Given the description of an element on the screen output the (x, y) to click on. 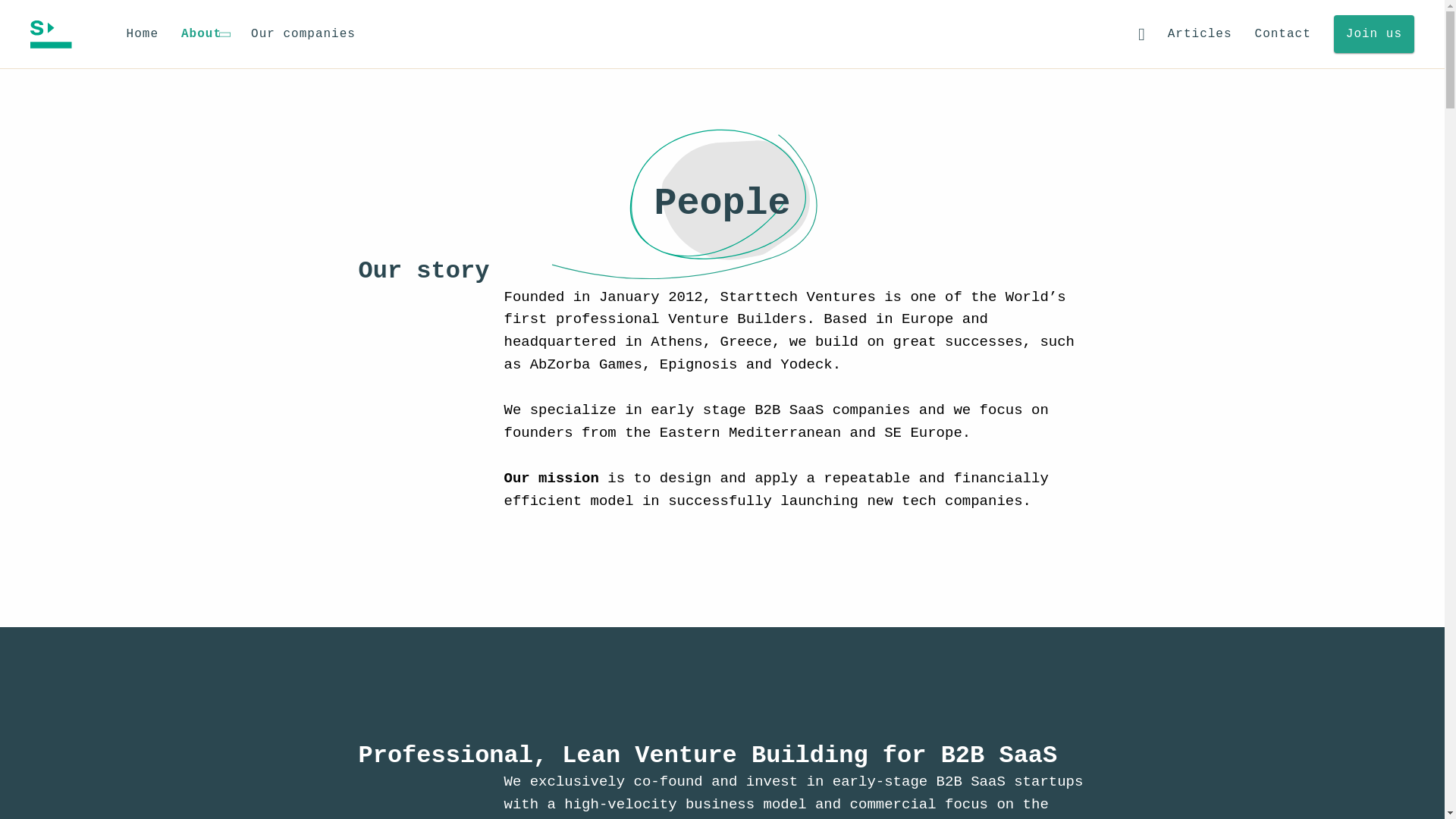
Our companies (302, 34)
Home (142, 34)
About (204, 34)
Starttech Ventures (50, 33)
Contact (1283, 34)
Articles (1199, 34)
Join us (1373, 34)
